Given the description of an element on the screen output the (x, y) to click on. 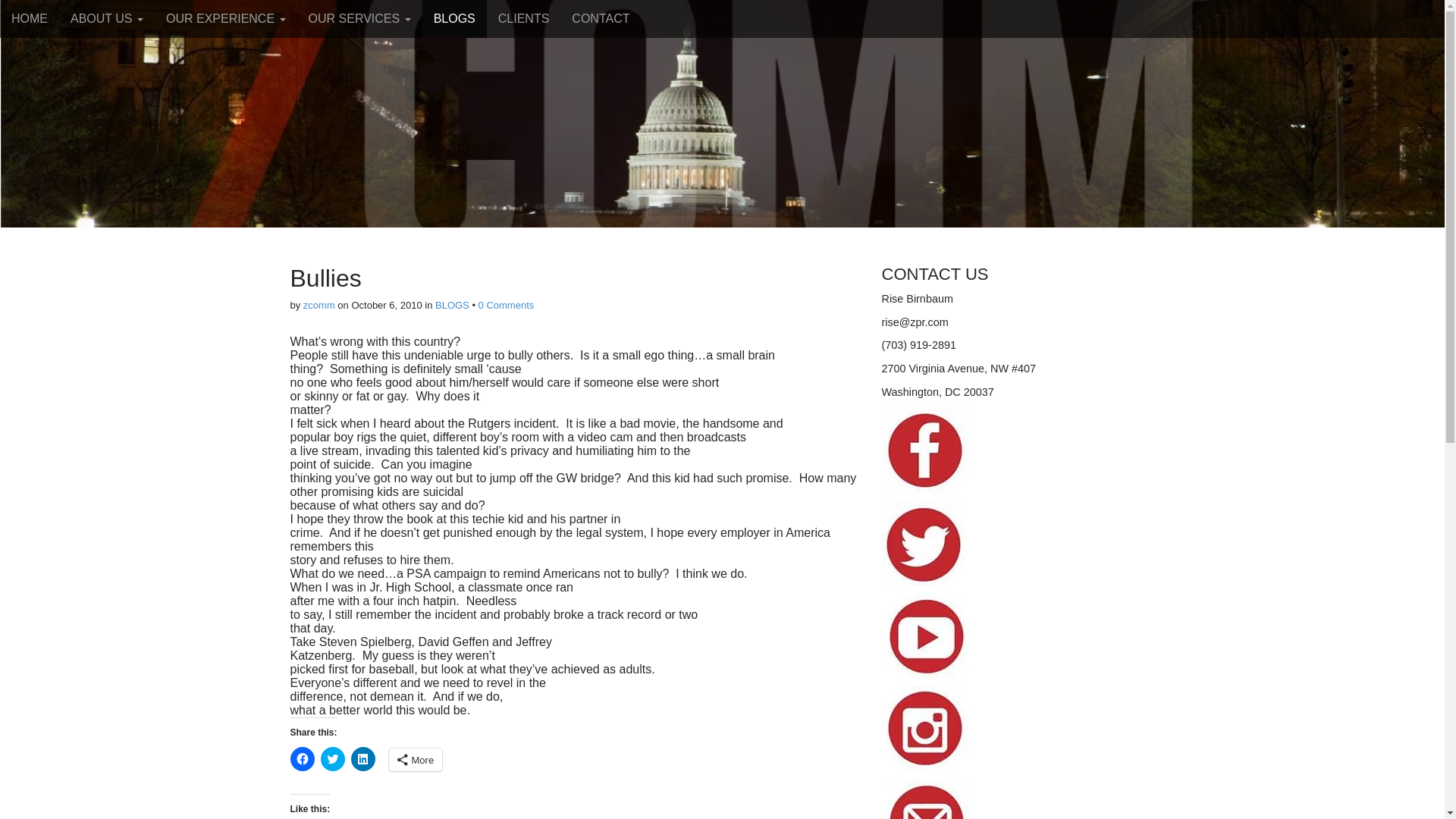
OUR SERVICES (359, 18)
Click to share on LinkedIn (362, 758)
0 Comments (506, 305)
October 6, 2010 (386, 305)
CONTACT (600, 18)
BLOGS (454, 18)
OUR EXPERIENCE (225, 18)
Click to share on Twitter (331, 758)
ABOUT US (106, 18)
CLIENTS (523, 18)
Posts by zcomm (318, 305)
BLOGS (451, 305)
zcomm (318, 305)
Click to share on Facebook (301, 758)
HOME (29, 18)
